Given the description of an element on the screen output the (x, y) to click on. 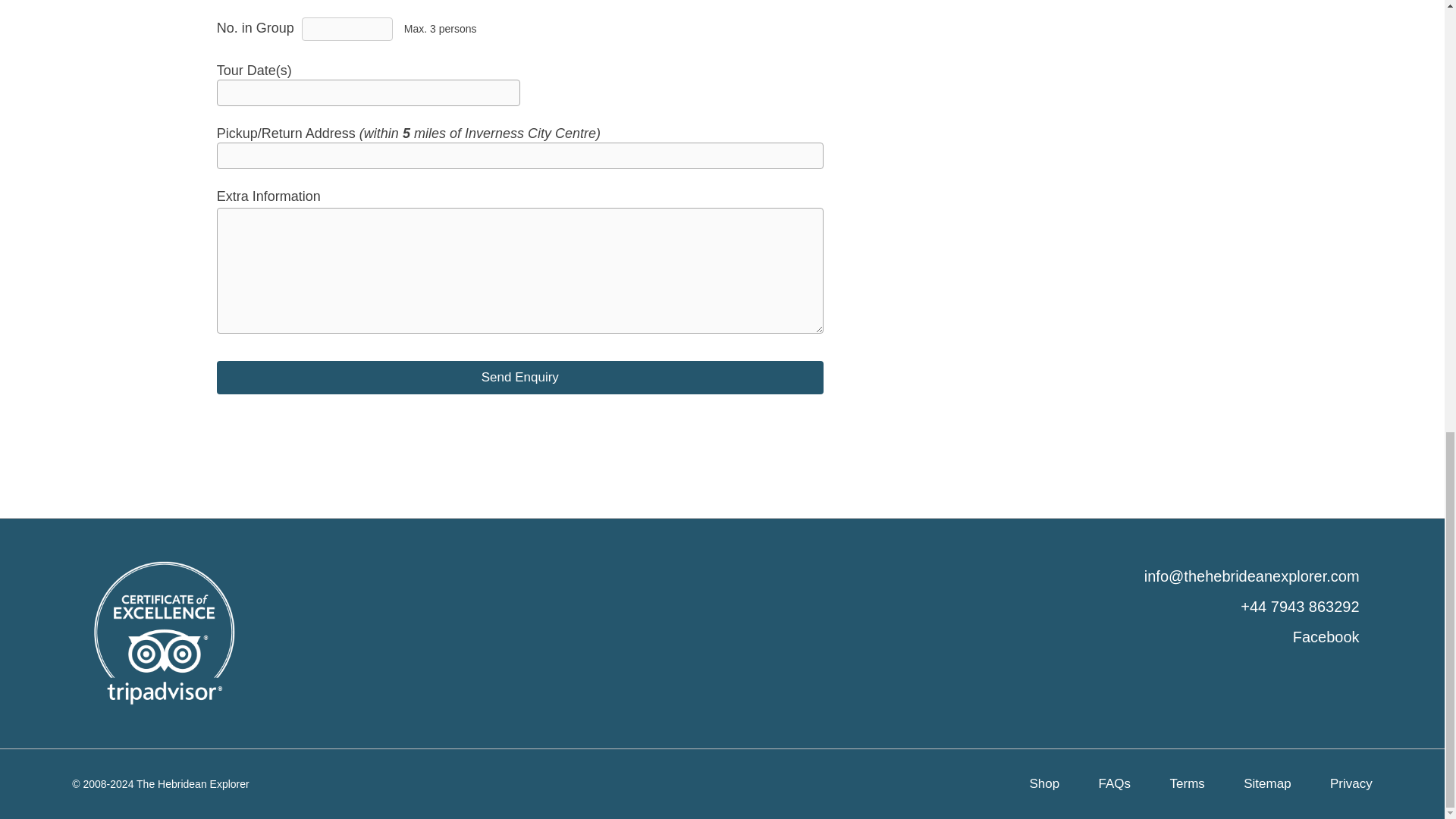
Shop (1044, 783)
Facebook (1325, 636)
FAQs (1115, 783)
Send Enquiry (520, 377)
Sitemap (1266, 783)
Terms (1187, 783)
Trip Advisor Reviews for The Hebridean Explorer (164, 633)
Privacy (1351, 783)
Send Enquiry (520, 377)
